Given the description of an element on the screen output the (x, y) to click on. 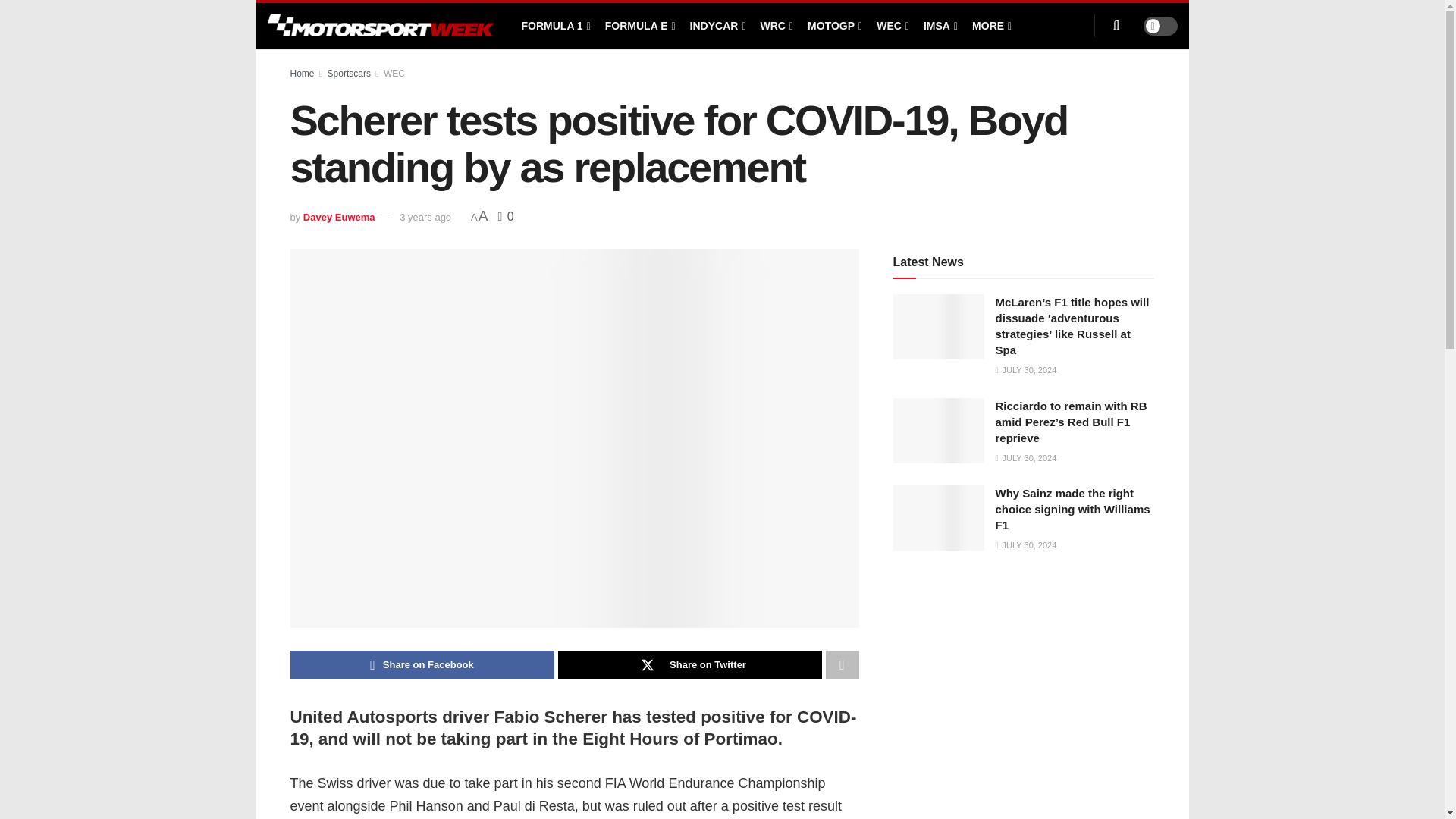
WRC (776, 25)
FORMULA E (638, 25)
MORE (990, 25)
IMSA (939, 25)
FORMULA 1 (554, 25)
WEC (891, 25)
MOTOGP (834, 25)
INDYCAR (717, 25)
